Given the description of an element on the screen output the (x, y) to click on. 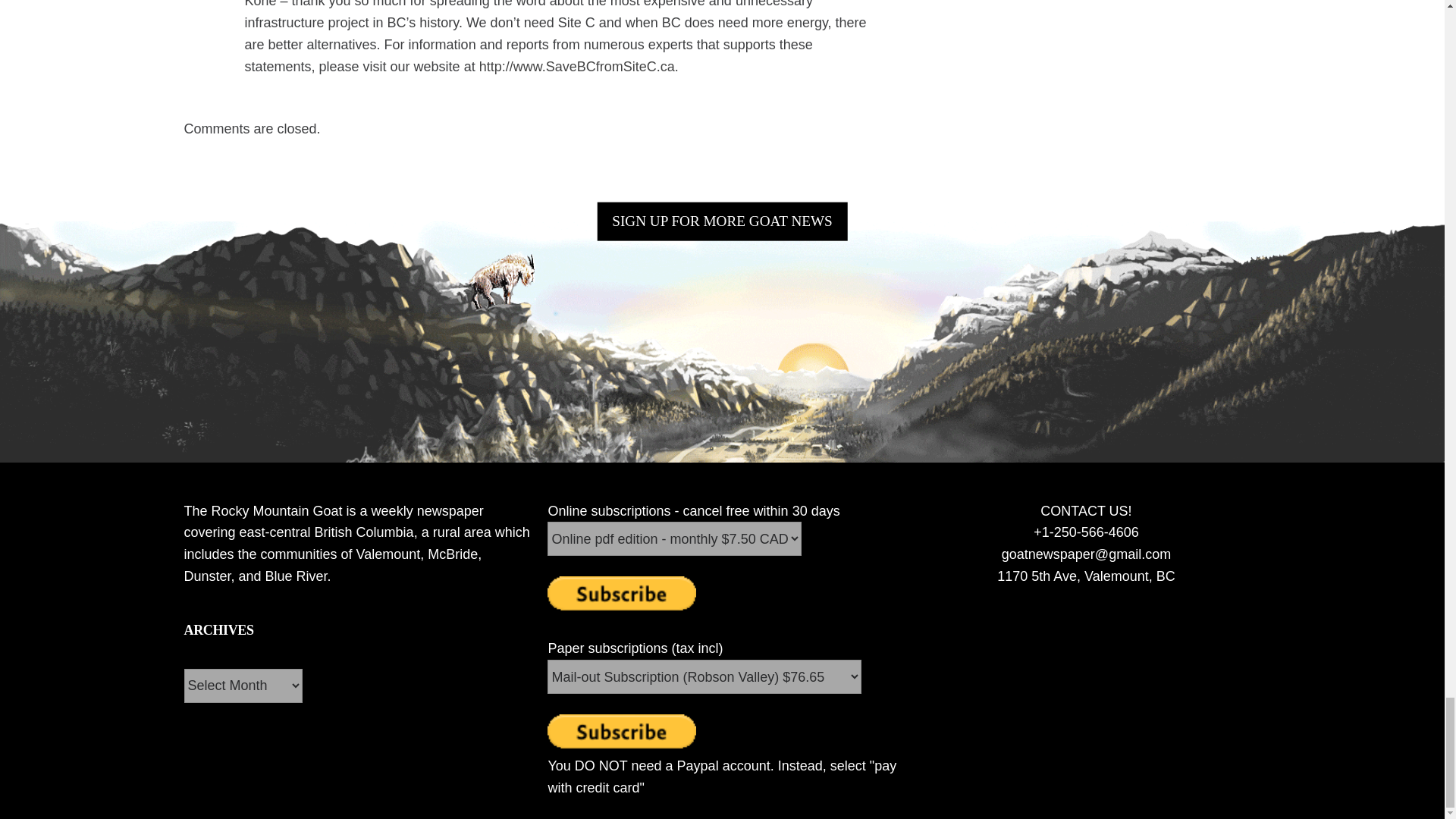
PayPal - The safer, easier way to pay online! (621, 731)
PayPal - The safer, easier way to pay online! (621, 593)
